Given the description of an element on the screen output the (x, y) to click on. 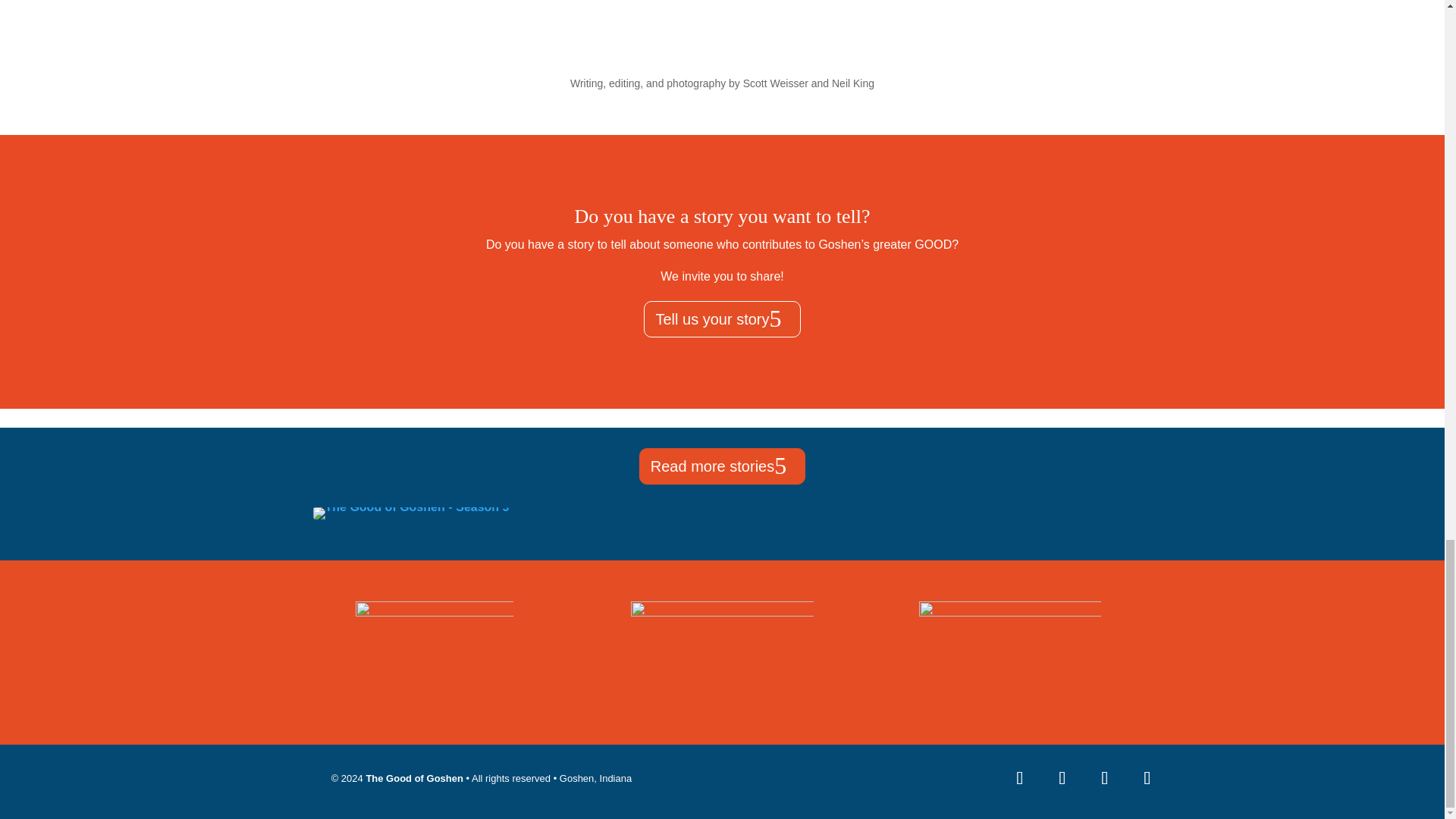
Follow on Instagram (1061, 778)
Follow on Facebook (1019, 778)
Tell us your story (721, 319)
The Good of Goshen (414, 778)
Read more stories (722, 465)
Follow on Threads (1147, 778)
Follow on Youtube (1104, 778)
